Given the description of an element on the screen output the (x, y) to click on. 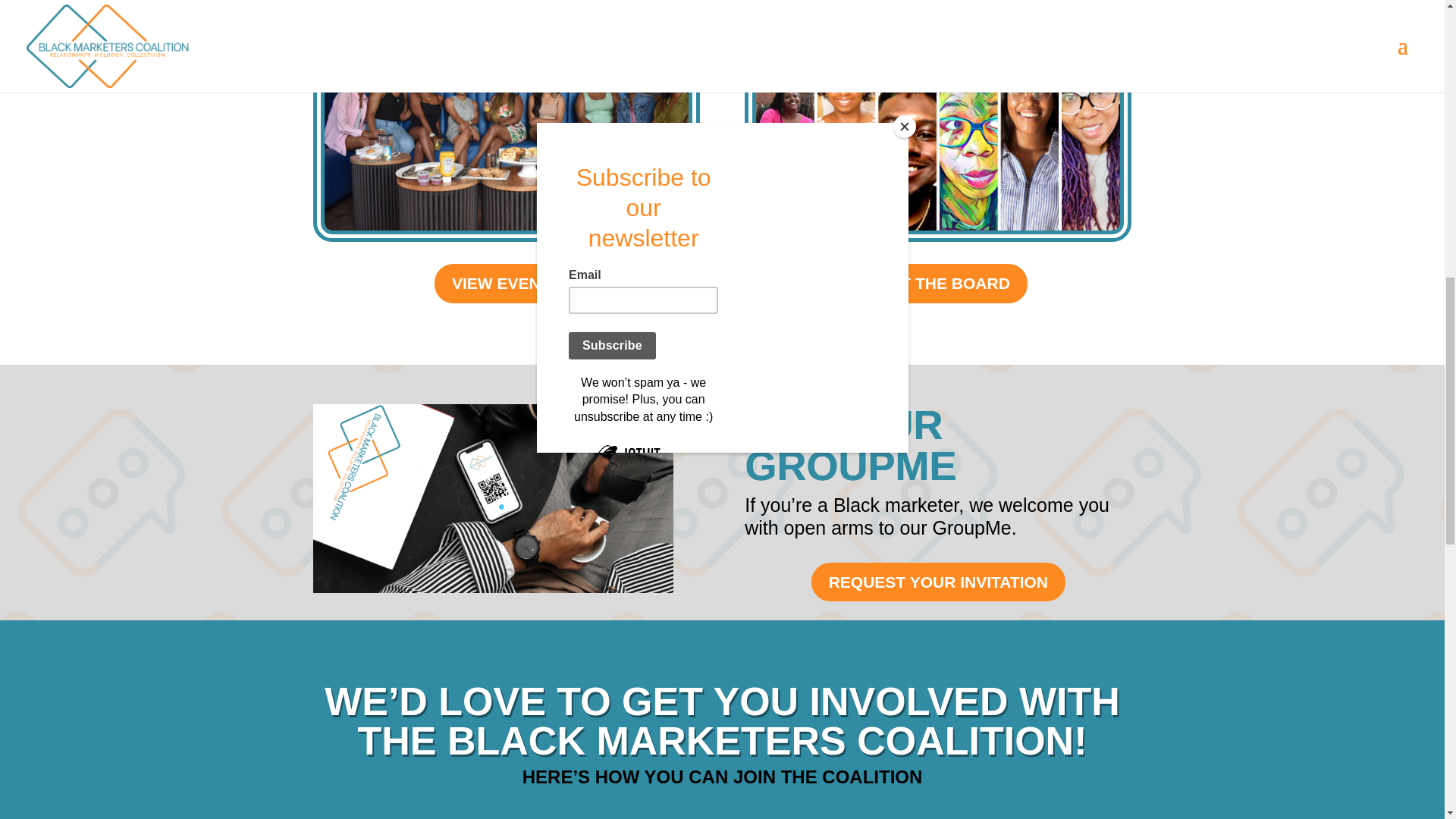
Board Website Graphic (937, 134)
MEET THE BOARD (937, 283)
REQUEST YOUR INVITATION (937, 581)
View Events - BMC (506, 134)
VIEW EVENTS (505, 283)
